Given the description of an element on the screen output the (x, y) to click on. 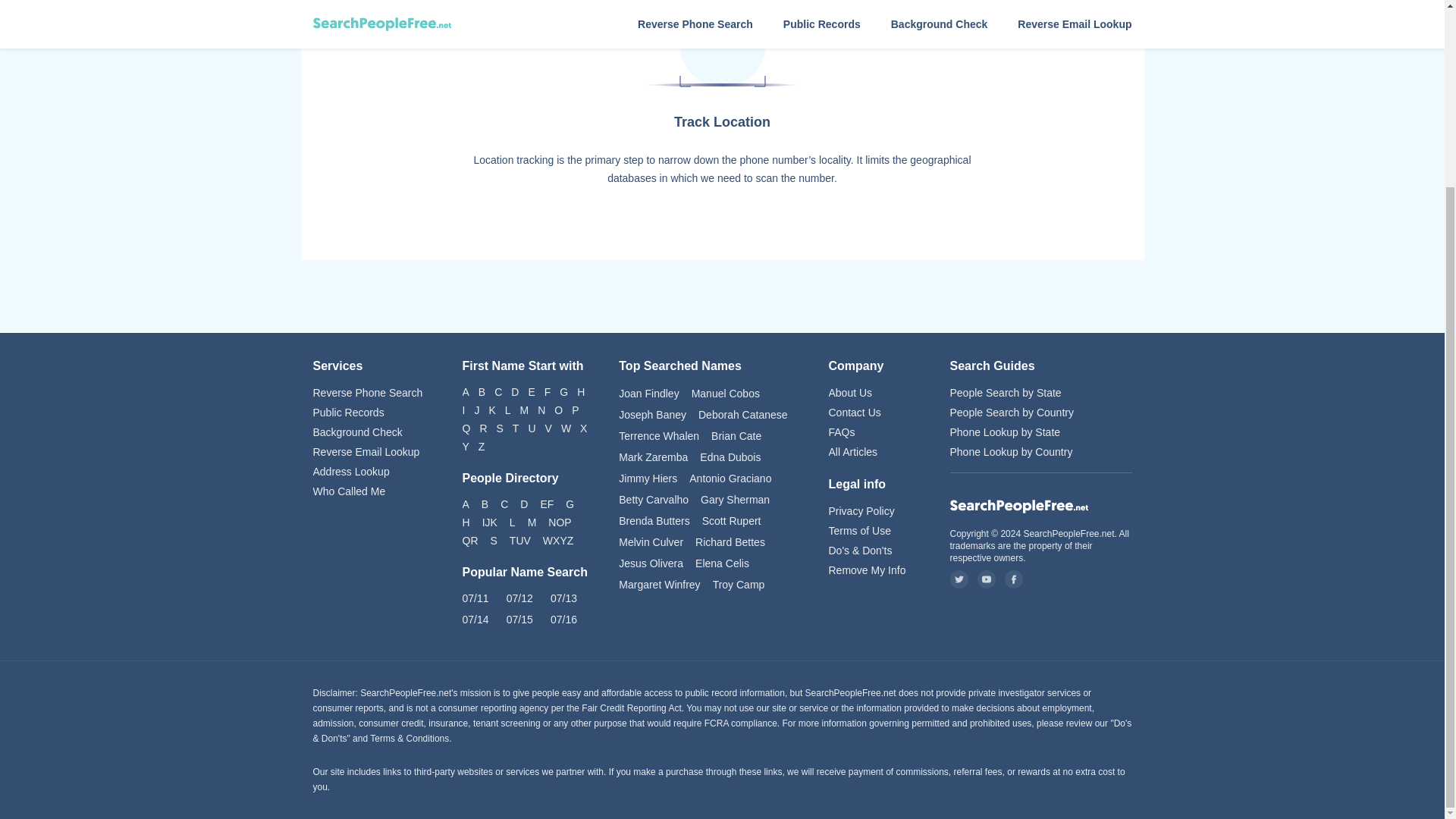
Reverse Phone Search (371, 392)
Public Records (371, 412)
Who Called Me (371, 491)
Background Check (371, 432)
Reverse Email Lookup (371, 451)
Address Lookup (371, 471)
